Given the description of an element on the screen output the (x, y) to click on. 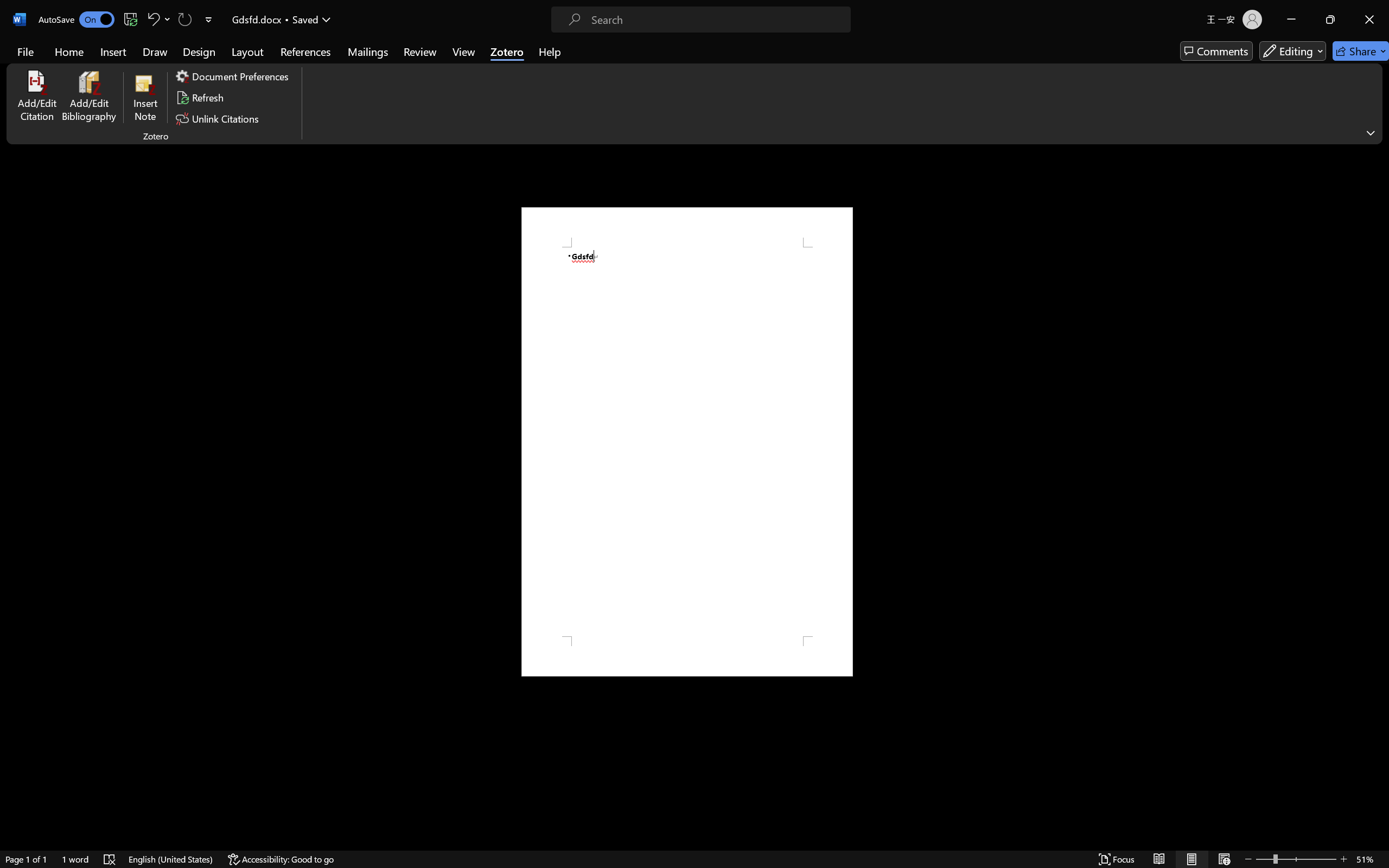
Page 1 content (686, 441)
